Given the description of an element on the screen output the (x, y) to click on. 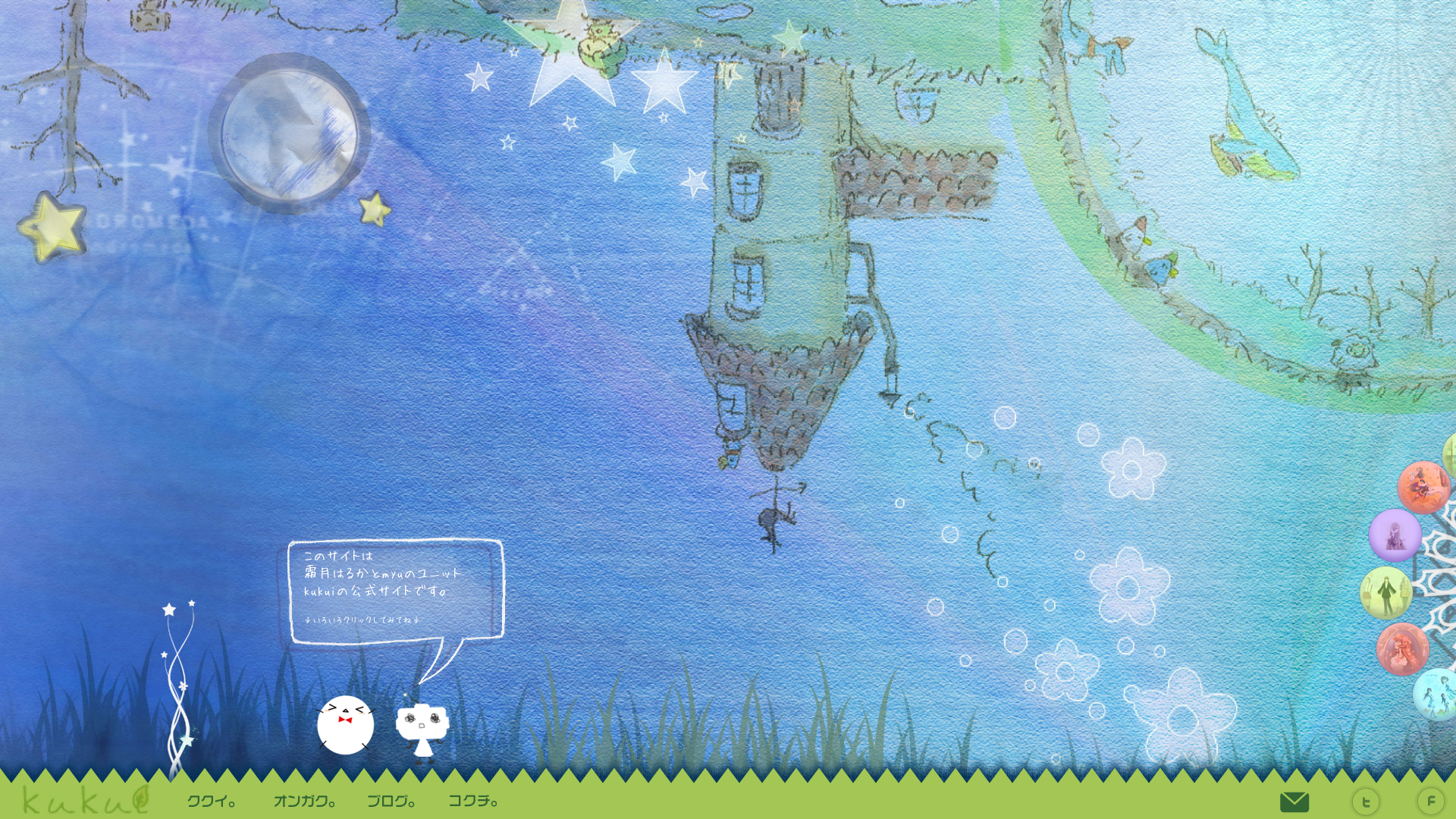
Click to enlarge Element type: hover (374, 737)
Click to enlarge Element type: hover (174, 680)
Click to enlarge Element type: hover (1402, 648)
Click to enlarge Element type: hover (1385, 592)
Click to enlarge Element type: hover (462, 736)
Click to enlarge Element type: hover (1423, 487)
Click to enlarge Element type: hover (1395, 535)
